Given the description of an element on the screen output the (x, y) to click on. 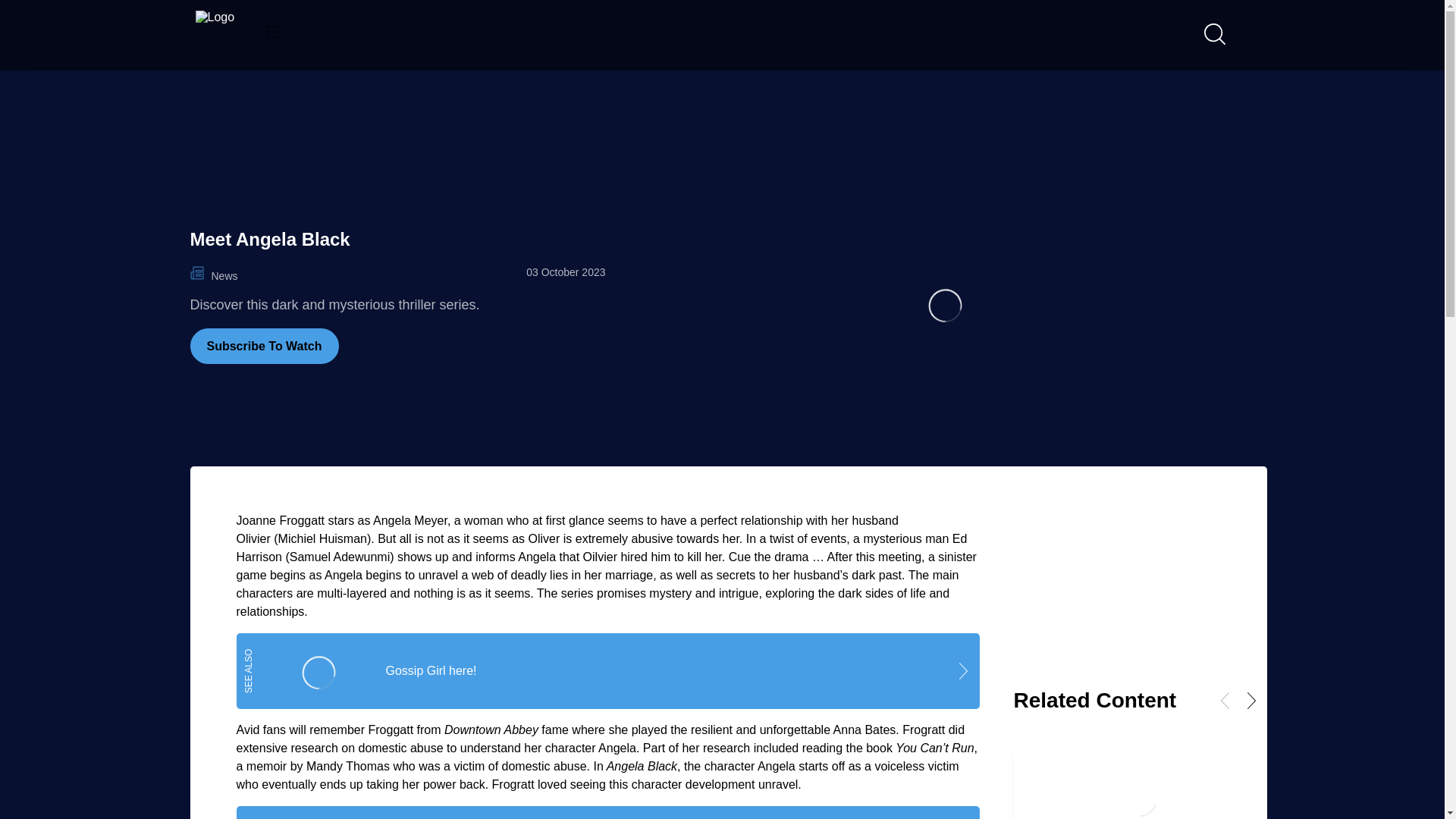
Subscribe To Watch (263, 345)
Gossip Girl here! (607, 671)
A peek into NCIS season 20 (607, 812)
